Given the description of an element on the screen output the (x, y) to click on. 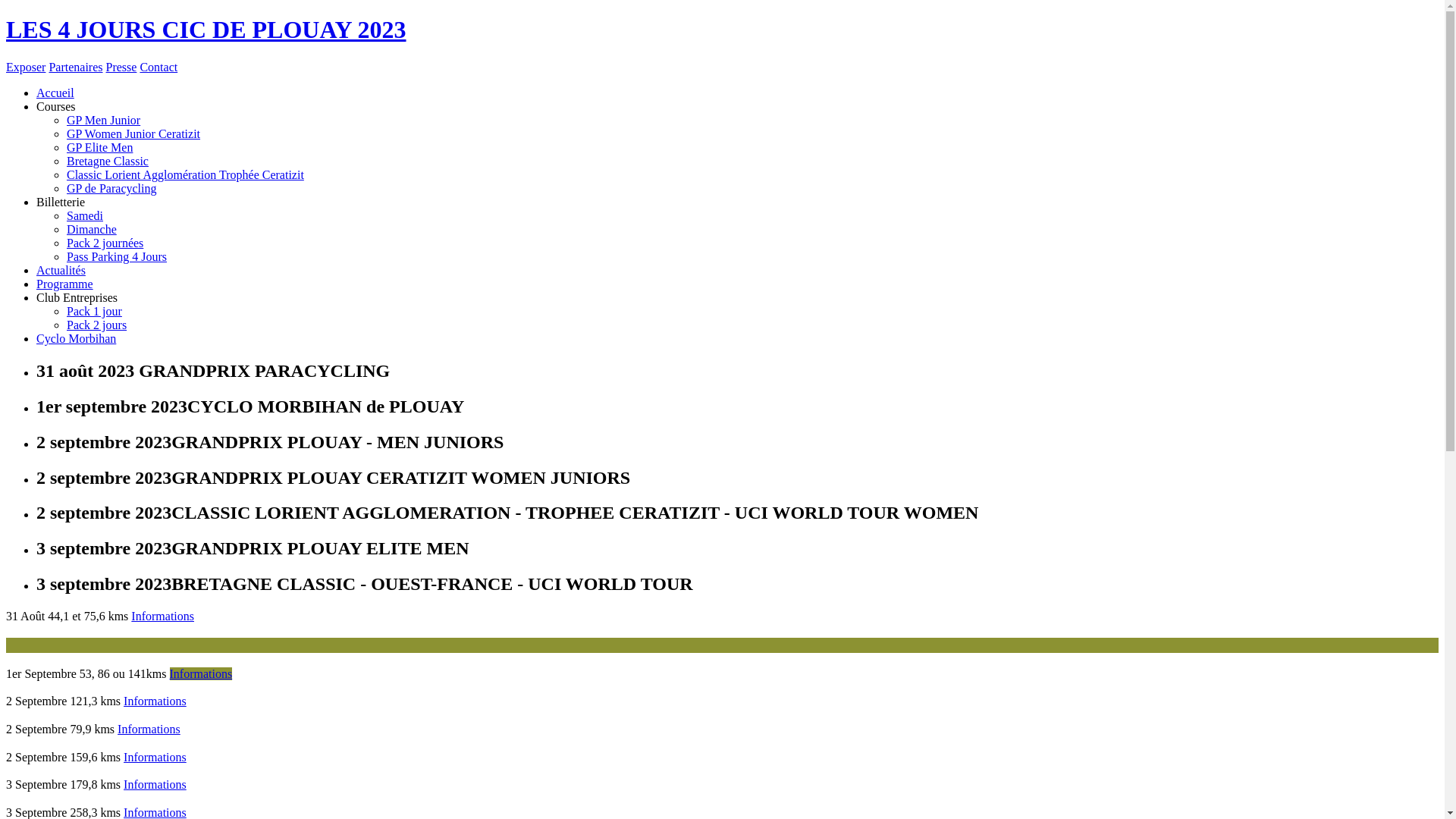
Informations Element type: text (154, 700)
GP Men Junior Element type: text (103, 119)
Informations Element type: text (200, 673)
Informations Element type: text (162, 615)
Samedi Element type: text (84, 215)
Informations Element type: text (154, 756)
Partenaires Element type: text (75, 66)
GP Elite Men Element type: text (99, 147)
Cyclo Morbihan Element type: text (76, 338)
LES 4 JOURS CIC DE PLOUAY 2023 Element type: text (722, 29)
Accueil Element type: text (55, 92)
GP de Paracycling Element type: text (111, 188)
Bretagne Classic Element type: text (107, 160)
Informations Element type: text (154, 784)
Contact Element type: text (158, 66)
GP Women Junior Ceratizit Element type: text (133, 133)
Dimanche Element type: text (91, 228)
Presse Element type: text (121, 66)
Informations Element type: text (148, 728)
Exposer Element type: text (25, 66)
Programme Element type: text (64, 283)
Pack 1 jour Element type: text (94, 310)
Pack 2 jours Element type: text (96, 324)
Pass Parking 4 Jours Element type: text (116, 256)
